Given the description of an element on the screen output the (x, y) to click on. 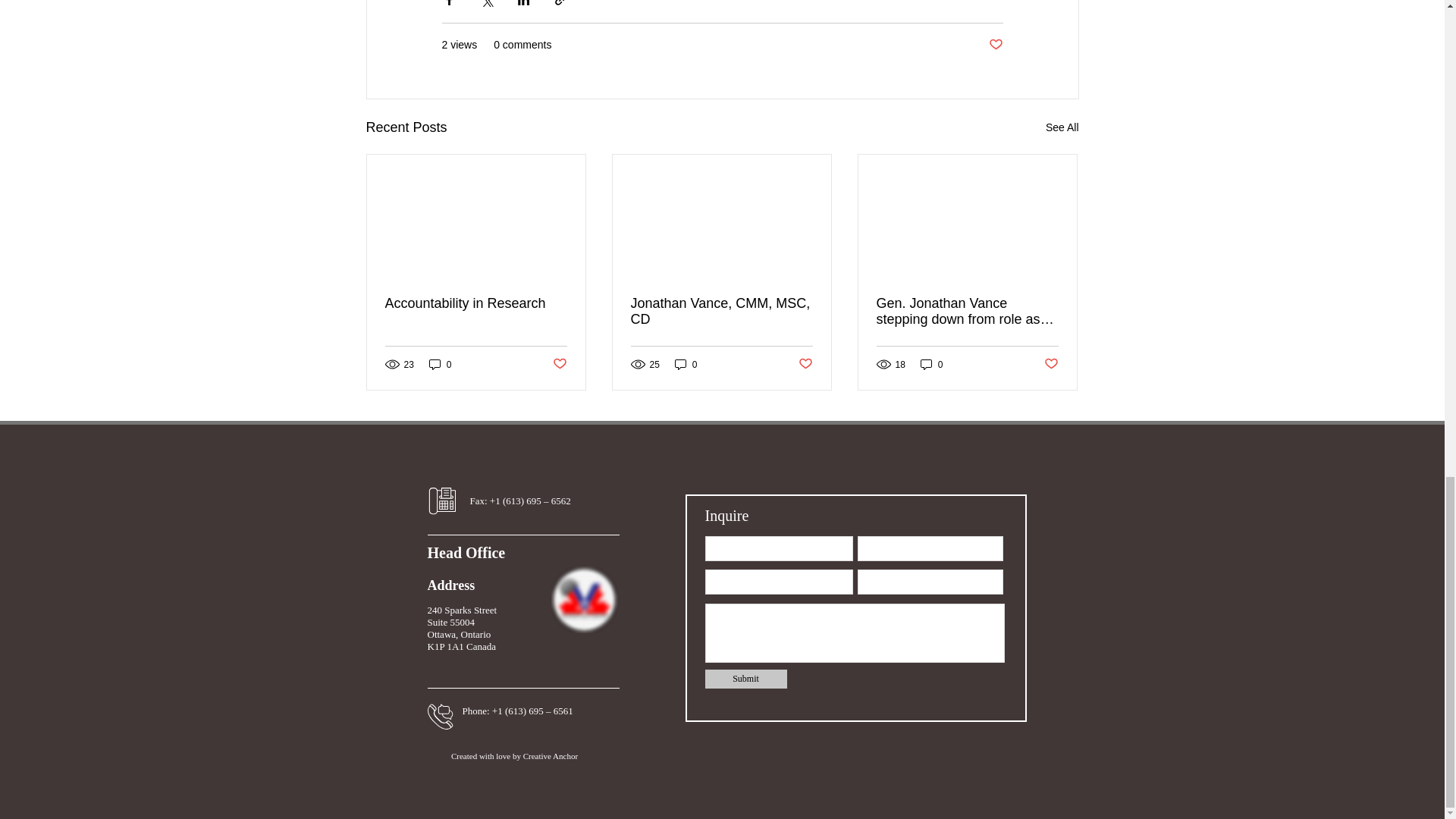
Submit (745, 678)
0 (931, 364)
Post not marked as liked (1050, 364)
Post not marked as liked (804, 364)
0 (685, 364)
See All (1061, 127)
0 (440, 364)
Jonathan Vance, CMM, MSC, CD (721, 311)
Accountability in Research (476, 303)
Post not marked as liked (558, 364)
Post not marked as liked (995, 44)
